Given the description of an element on the screen output the (x, y) to click on. 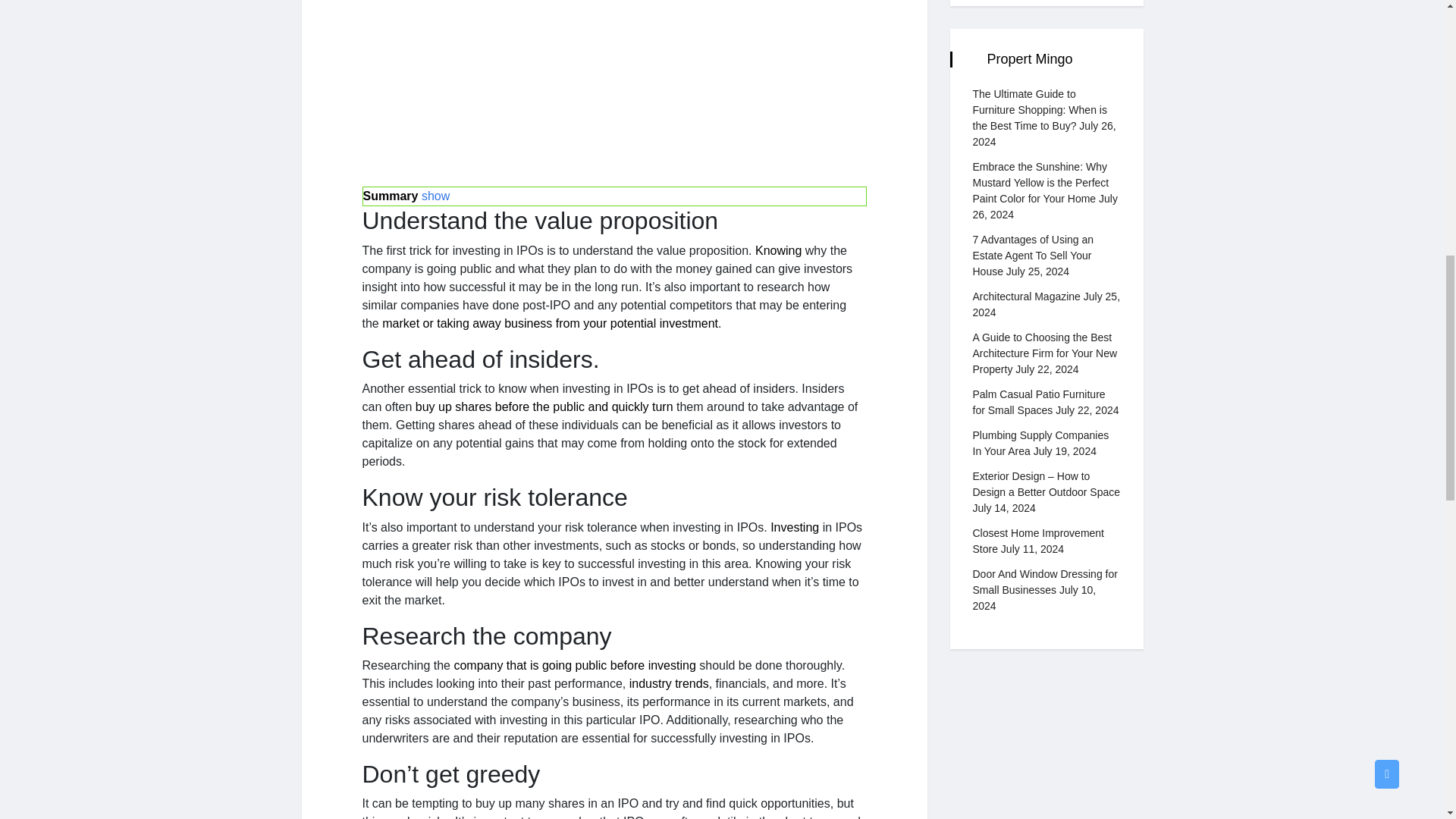
10 Real Estate Investment Ideas to Make ,000 This Year (794, 526)
Investing in IPOs: 10 tricks to know 1 (614, 87)
